Given the description of an element on the screen output the (x, y) to click on. 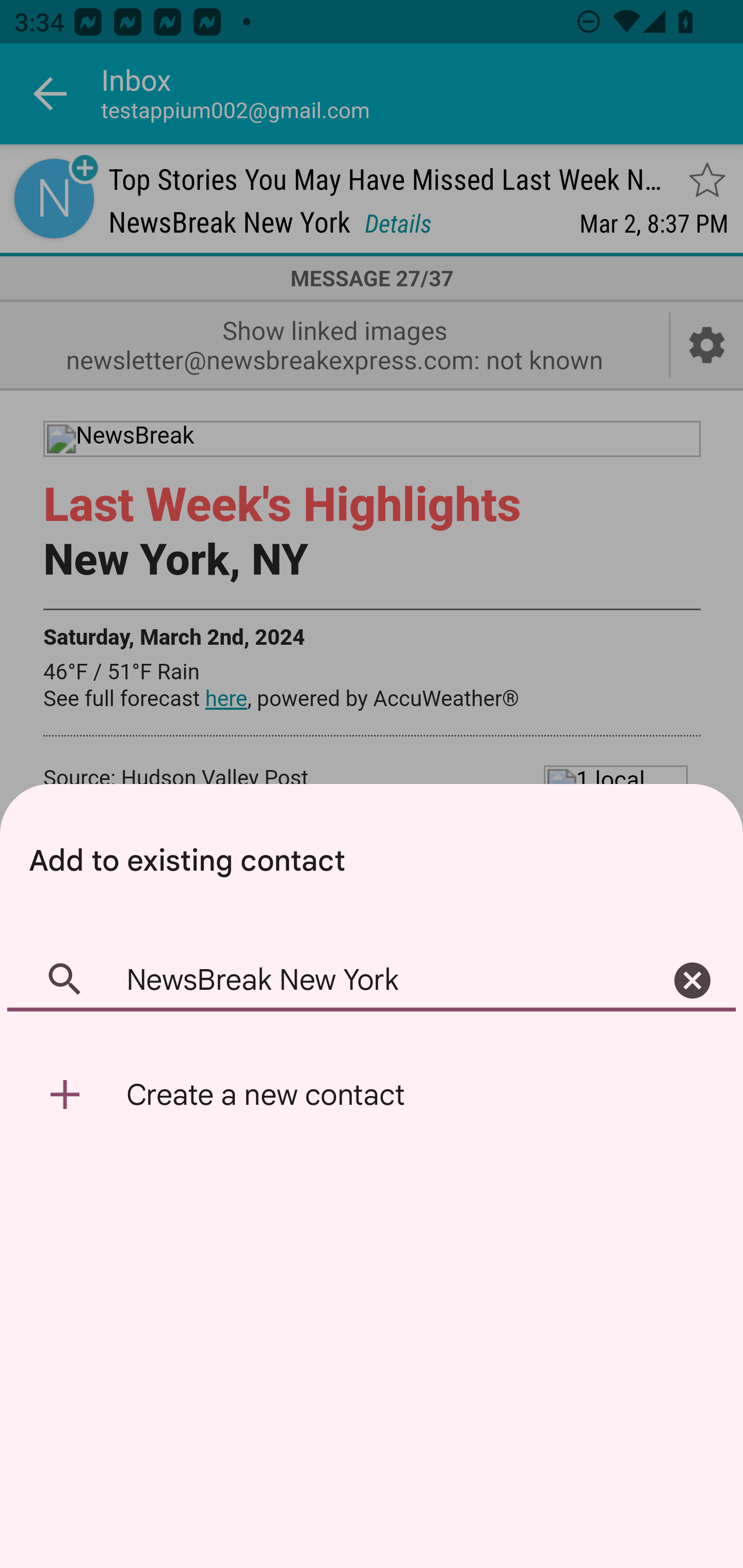
NewsBreak New York (371, 980)
Clear search (692, 980)
Create a new contact (371, 1094)
